Given the description of an element on the screen output the (x, y) to click on. 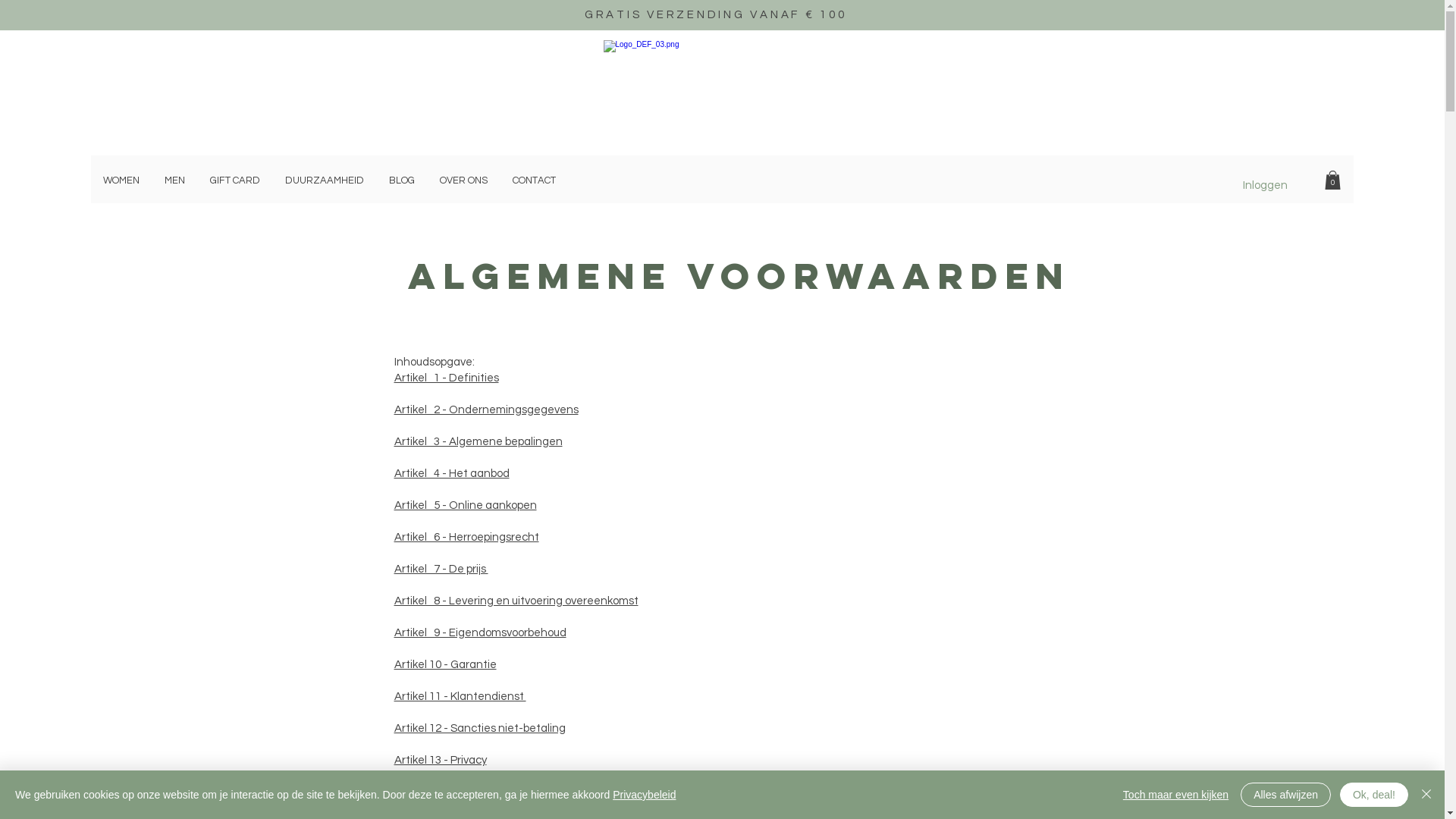
Artikel   3 - Algemene bepalingen Element type: text (478, 441)
MEN Element type: text (175, 180)
Artikel 11 - Klantendienst  Element type: text (460, 696)
Artikel   7 - De prijs  Element type: text (441, 568)
WOMEN Element type: text (122, 180)
Privacybeleid Element type: text (643, 794)
Artikel 14 - Gebruik van Cookies Element type: text (473, 791)
BLOG Element type: text (402, 180)
Artikel 12 - Sancties niet-betaling Element type: text (479, 728)
Artikel   2 - Ondernemingsgegevens Element type: text (486, 409)
Artikel   5 - Online aankopen Element type: text (465, 505)
Ok, deal! Element type: text (1373, 794)
Artikel 13 - Privacy Element type: text (440, 759)
GIFT CARD Element type: text (235, 180)
CONTACT Element type: text (535, 180)
Artikel   8 - Levering en uitvoering overeenkomst Element type: text (516, 600)
DUURZAAMHEID Element type: text (325, 180)
Artikel   1 - Definities Element type: text (446, 377)
Artikel   6 - Herroepingsrecht Element type: text (466, 536)
Artikel 10 - Garantie Element type: text (445, 664)
OVER ONS Element type: text (464, 180)
Inloggen Element type: text (1265, 184)
Alles afwijzen Element type: text (1285, 794)
0 Element type: text (1332, 179)
Artikel   4 - Het aanbod Element type: text (451, 473)
Artikel   9 - Eigendomsvoorbehoud Element type: text (480, 632)
